Given the description of an element on the screen output the (x, y) to click on. 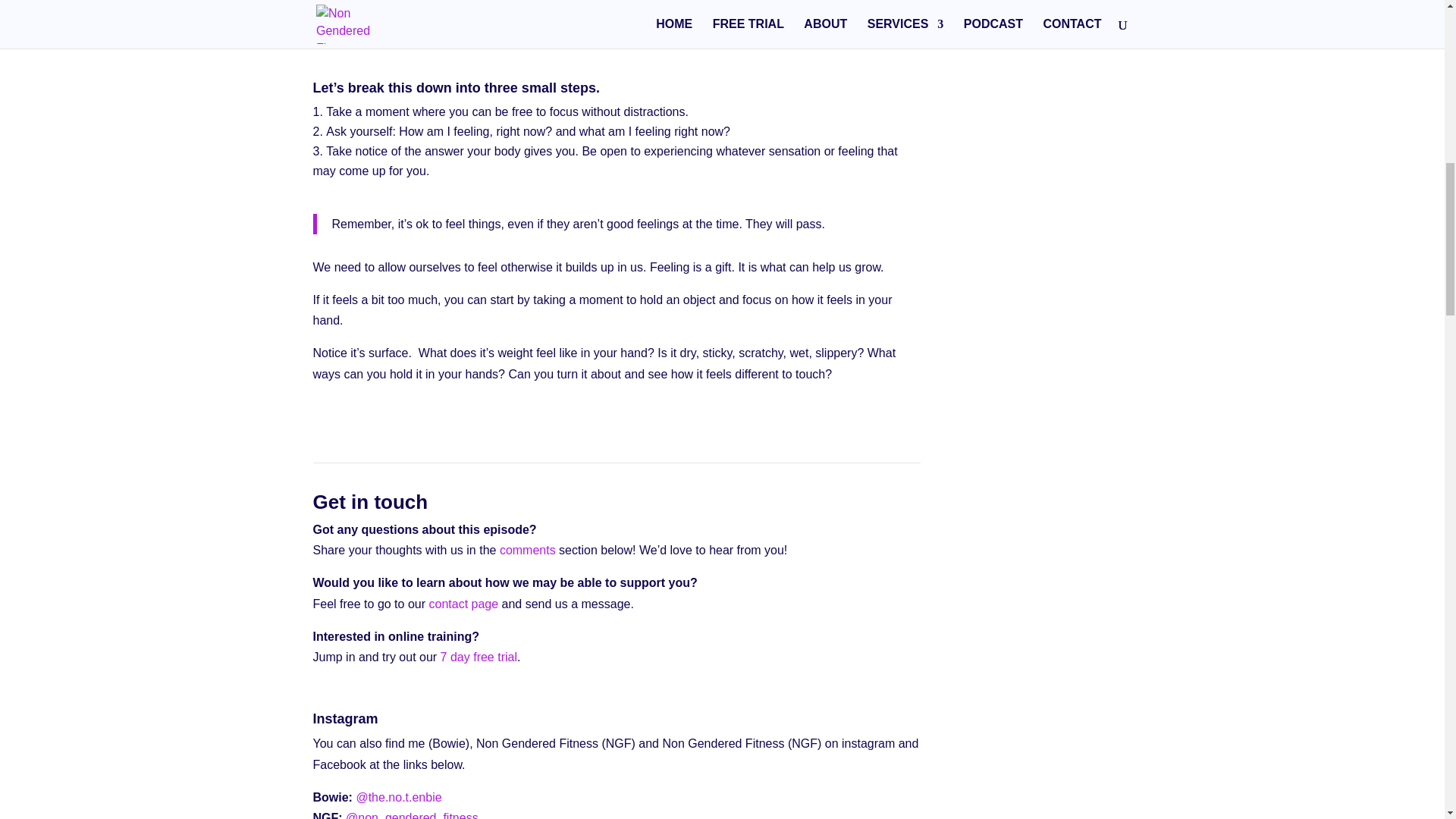
7 day free trial (478, 656)
comments (527, 549)
contact page (462, 603)
